Given the description of an element on the screen output the (x, y) to click on. 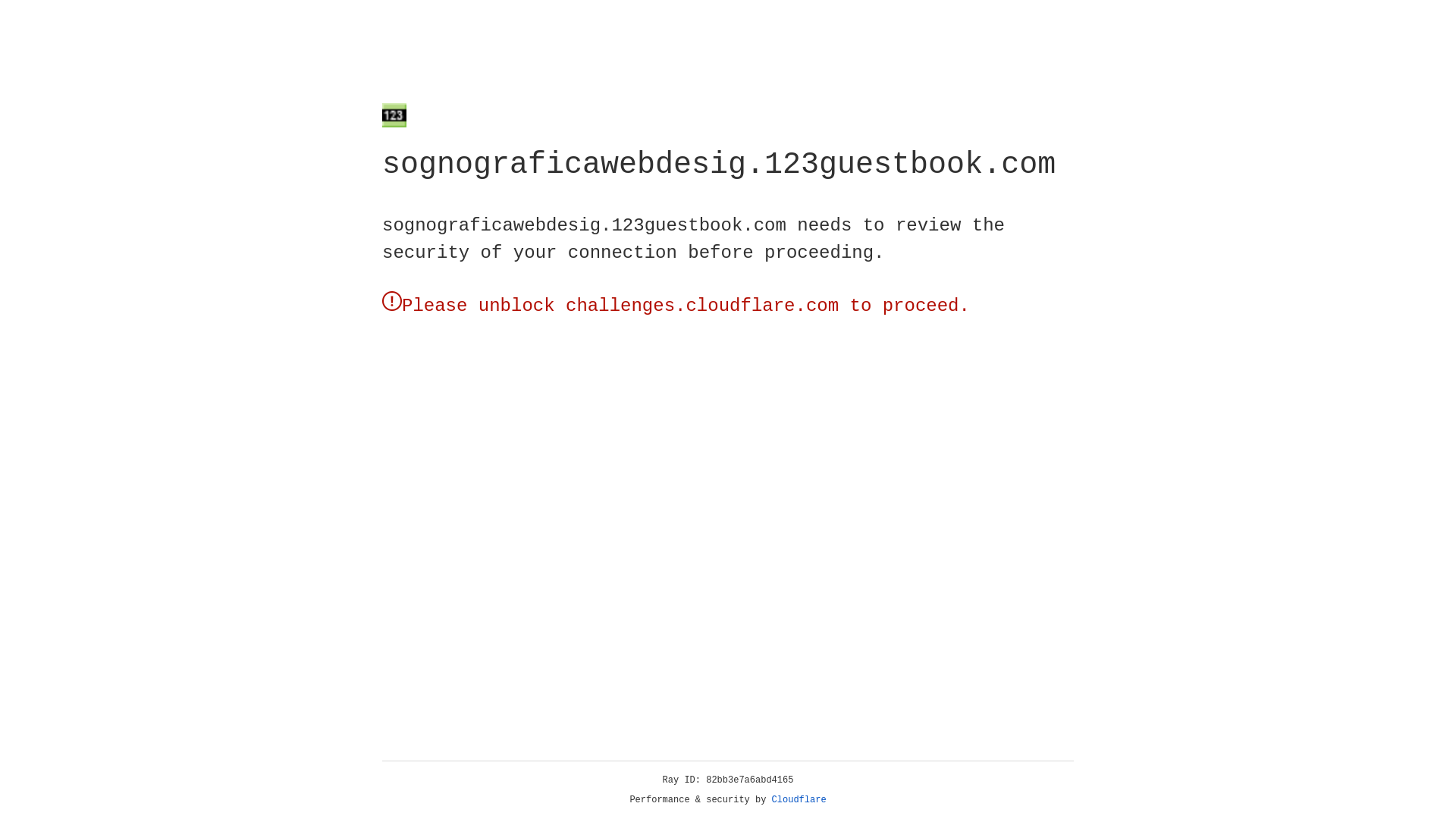
Cloudflare Element type: text (798, 799)
